Given the description of an element on the screen output the (x, y) to click on. 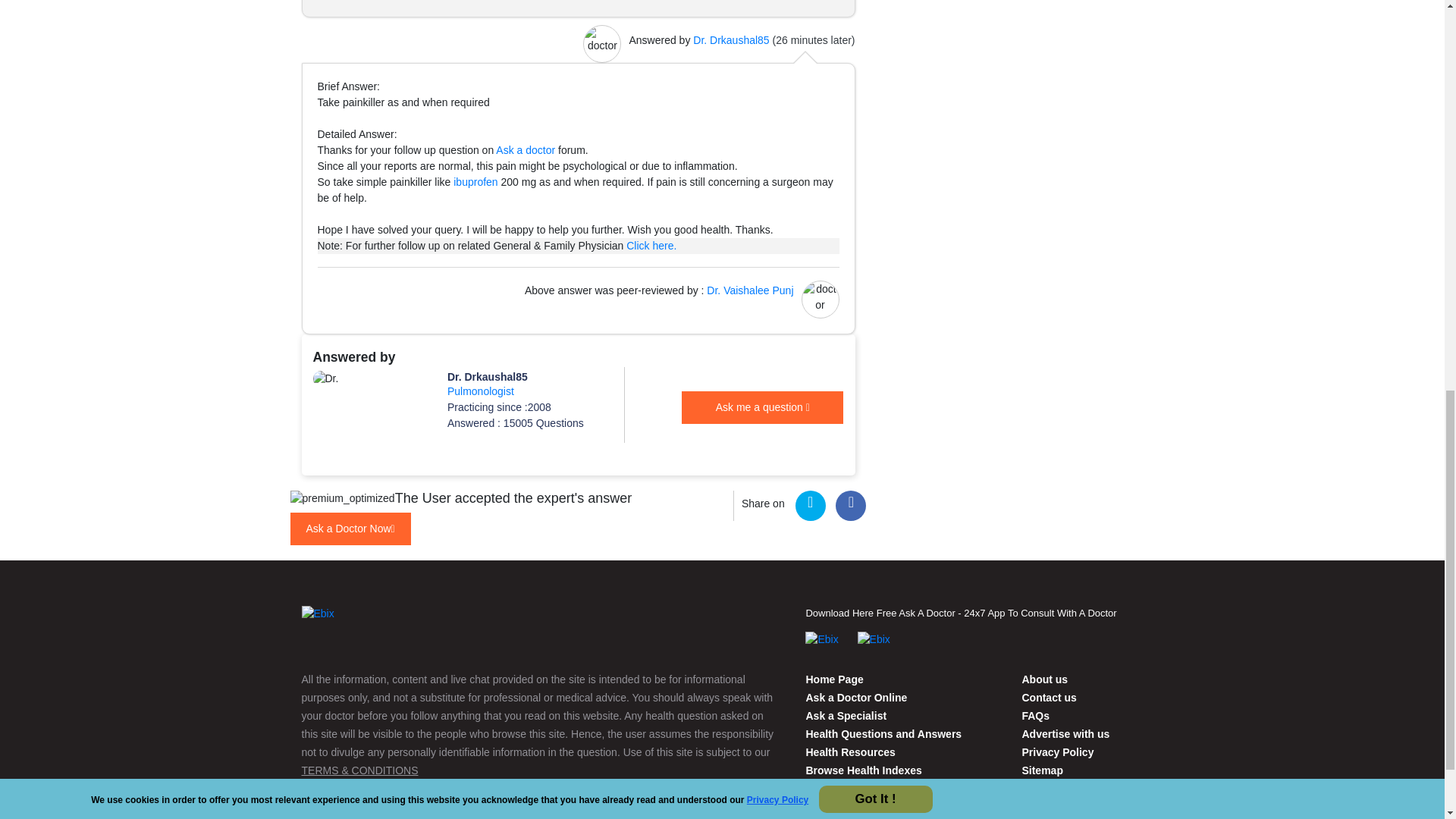
FAQs (1035, 715)
Privacy Policy (1057, 752)
Health Blog (816, 806)
Health Resources (850, 752)
Ask a doctor (525, 150)
Contact us (1048, 697)
Contact us (1044, 679)
Advertise with us (1065, 734)
Dr. Drkaushal85 (730, 39)
Ask a Specialist (845, 715)
